Given the description of an element on the screen output the (x, y) to click on. 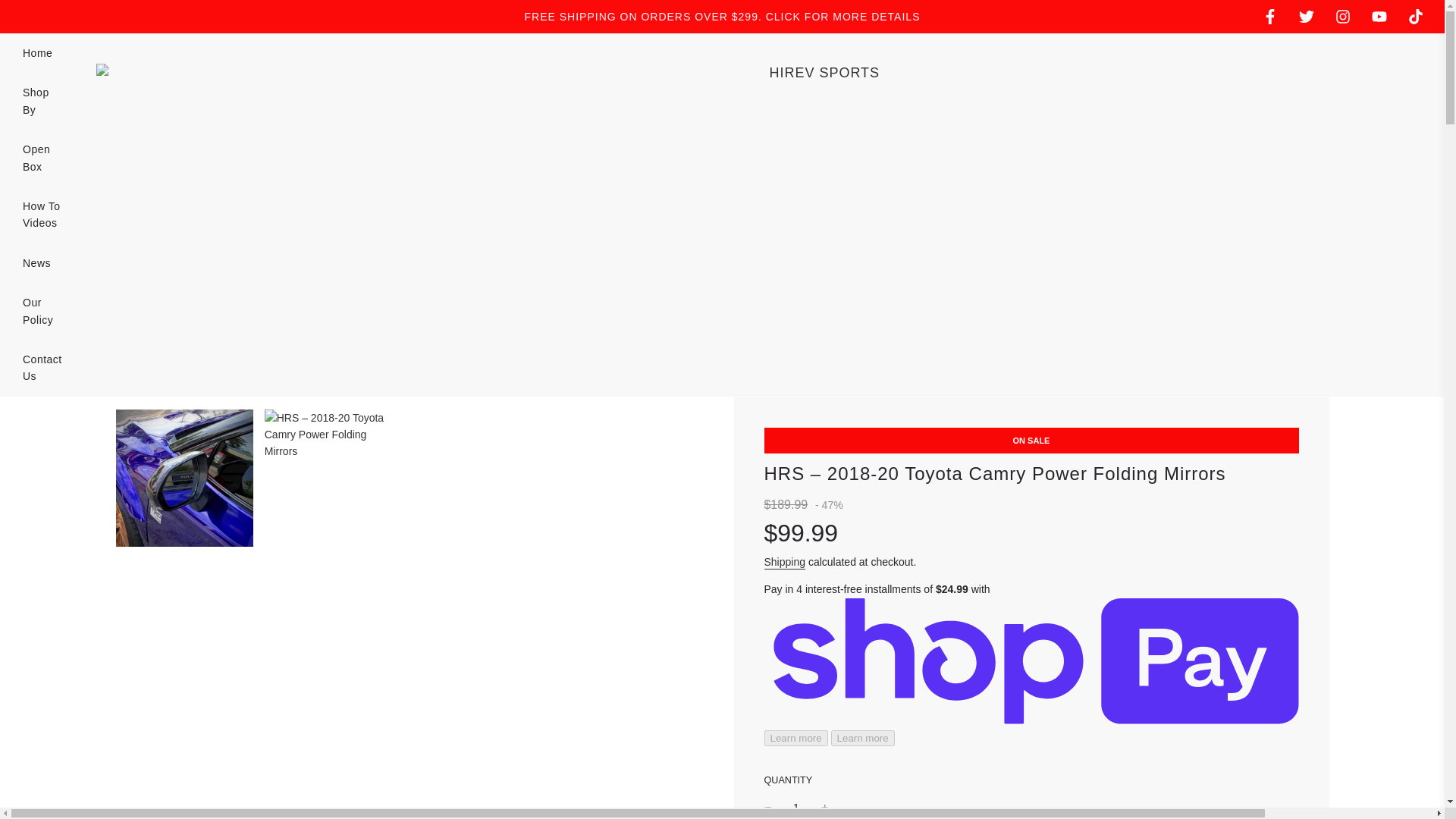
Shop By (42, 100)
Home (37, 52)
Open Box (42, 157)
1 (796, 807)
